Given the description of an element on the screen output the (x, y) to click on. 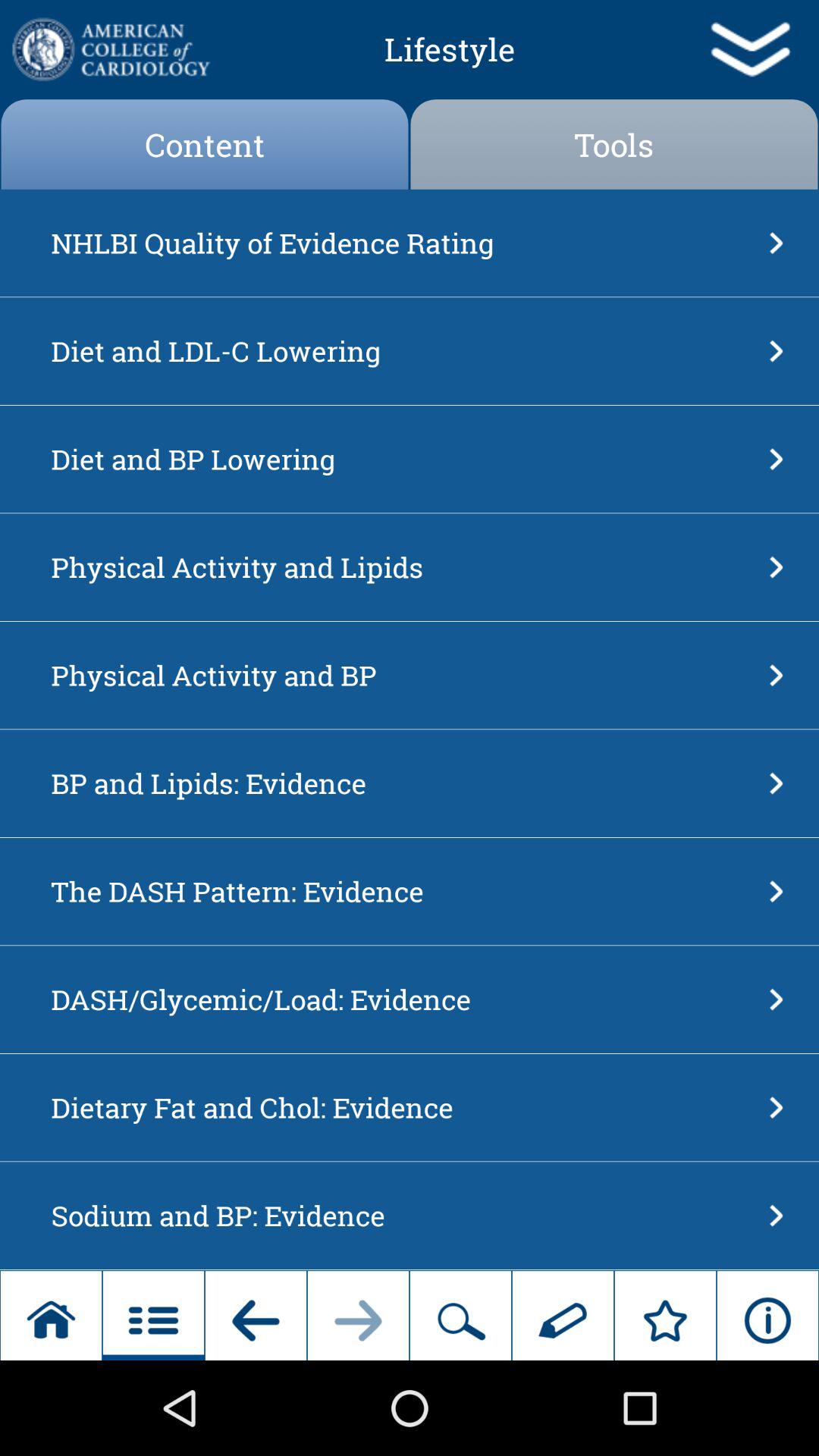
turn off the app above the nhlbi quality of item (613, 144)
